Given the description of an element on the screen output the (x, y) to click on. 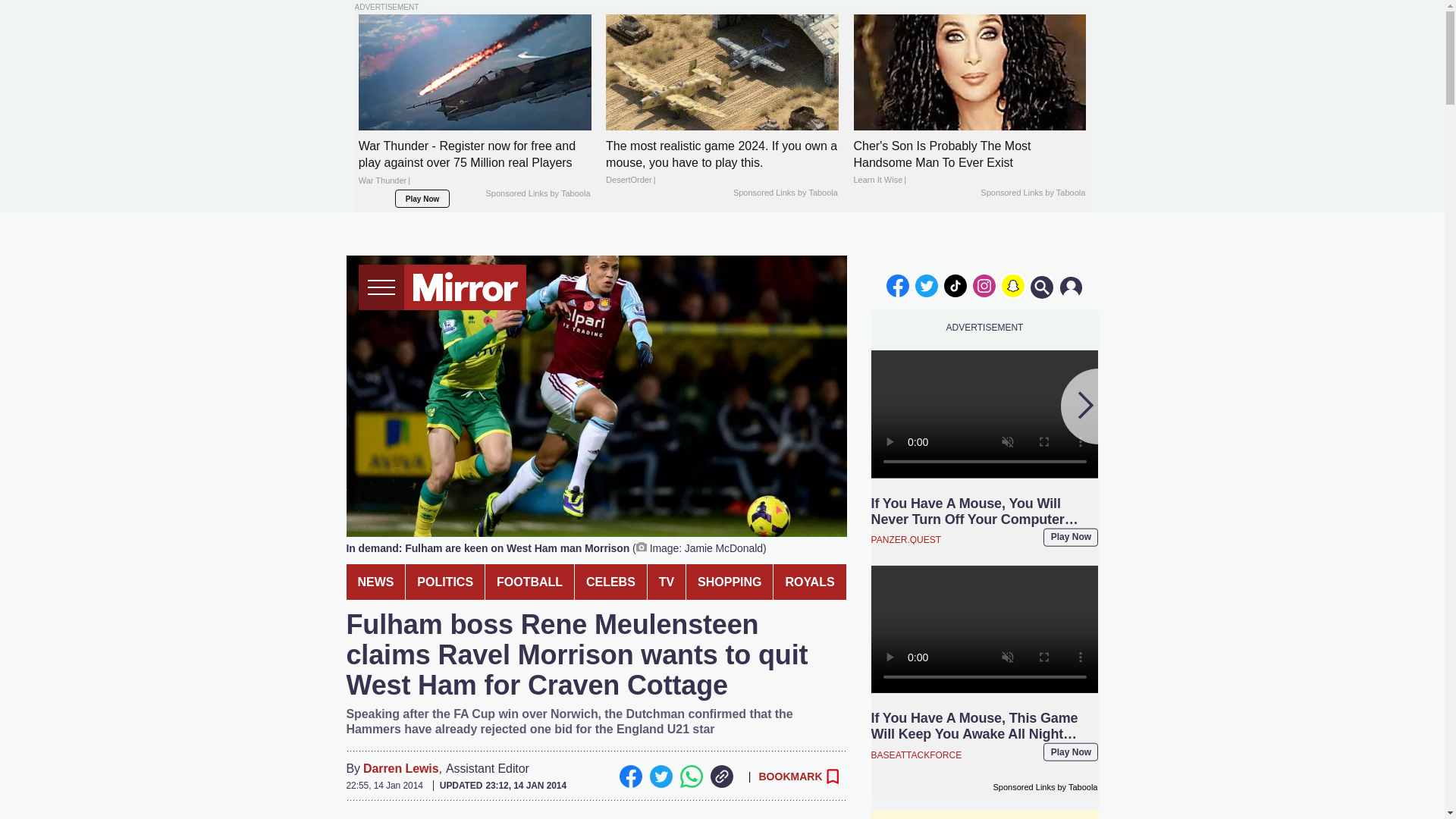
twitter (926, 285)
snapchat (1012, 285)
tiktok (955, 285)
Sponsored Links by Taboola (785, 193)
Sponsored Links by Taboola (1031, 193)
Cher's Son Is Probably The Most Handsome Man To Ever Exist (969, 163)
instagram (984, 285)
Play Now (421, 198)
facebook (897, 285)
Sponsored Links by Taboola (536, 194)
